Given the description of an element on the screen output the (x, y) to click on. 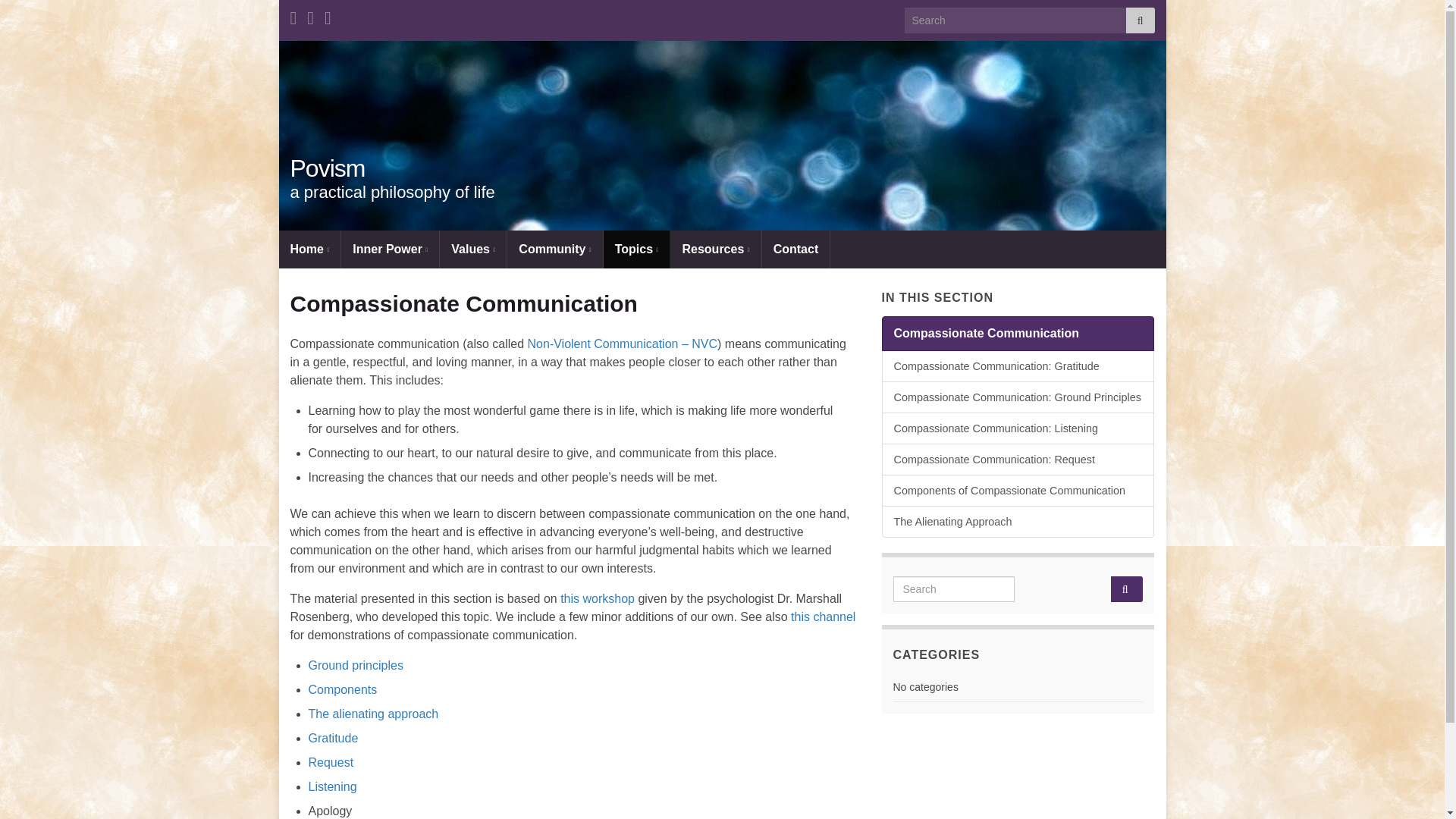
whatsapp (310, 15)
Go back to the front page (327, 167)
facebook (327, 15)
Povism (327, 167)
Community (554, 249)
Resources (714, 249)
youtube (293, 15)
Topics (636, 249)
Home (309, 249)
Values (472, 249)
Inner Power (389, 249)
